Given the description of an element on the screen output the (x, y) to click on. 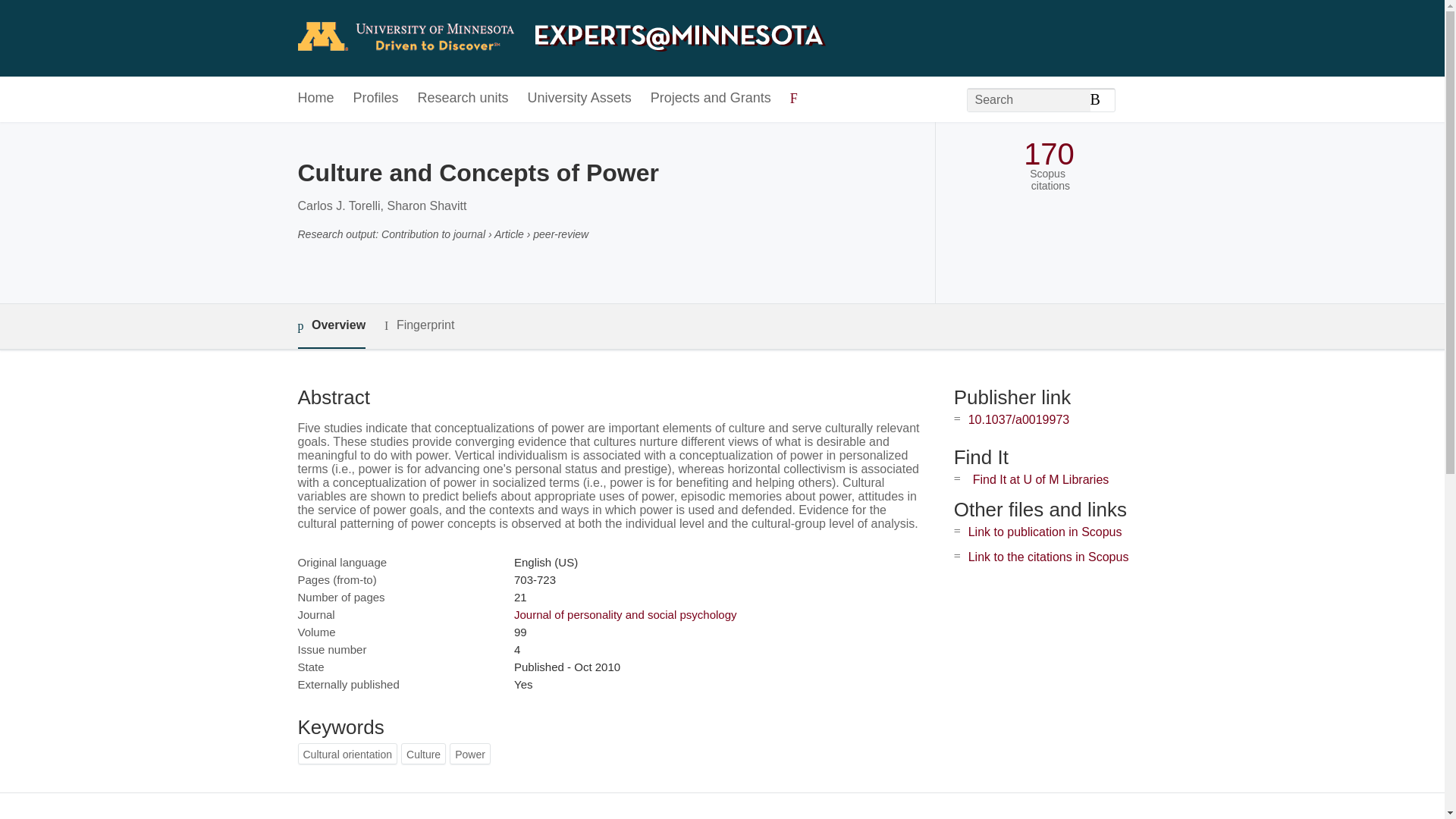
Journal of personality and social psychology (624, 614)
University Assets (579, 98)
170 (1048, 153)
Profiles (375, 98)
Overview (331, 325)
Fingerprint (419, 325)
Link to publication in Scopus (1045, 531)
Research units (462, 98)
Find It at U of M Libraries (1040, 479)
Link to the citations in Scopus (1048, 556)
